Given the description of an element on the screen output the (x, y) to click on. 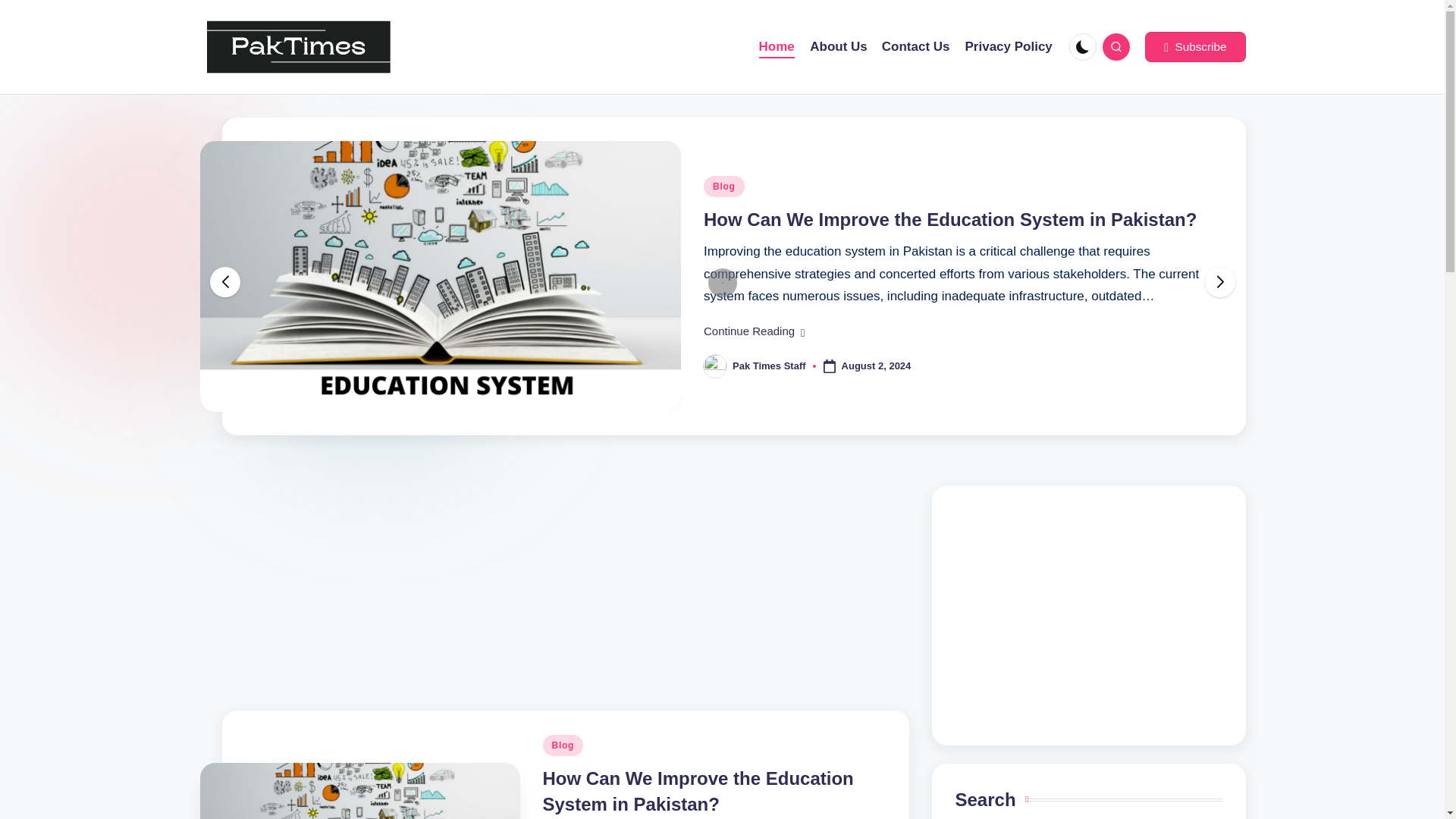
How Can We Improve the Education System in Pakistan? (698, 791)
Pak Times Staff (769, 365)
About Us (838, 47)
Advertisement (1089, 615)
View all posts by Pak Times Staff (769, 365)
How Can We Improve the Education System in Pakistan? (949, 219)
Subscribe (1194, 46)
Blog (563, 744)
Privacy Policy (1008, 47)
